Given the description of an element on the screen output the (x, y) to click on. 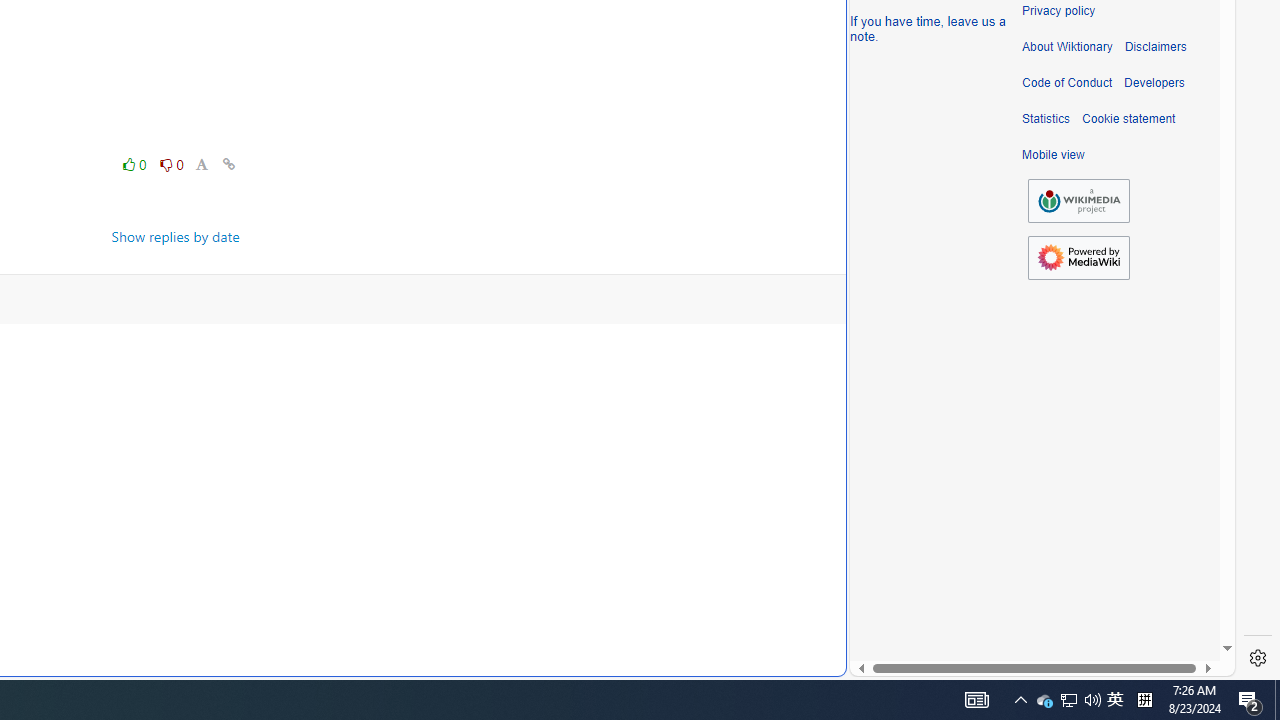
google_privacy_policy_zh-CN.pdf (687, 482)
Developers (1154, 83)
Code of Conduct (1067, 83)
Show replies by date (175, 236)
Actions for this site (1129, 306)
Global web icon (888, 663)
Statistics (1046, 119)
AutomationID: footer-poweredbyico (1078, 257)
Statistics (1046, 119)
